Given the description of an element on the screen output the (x, y) to click on. 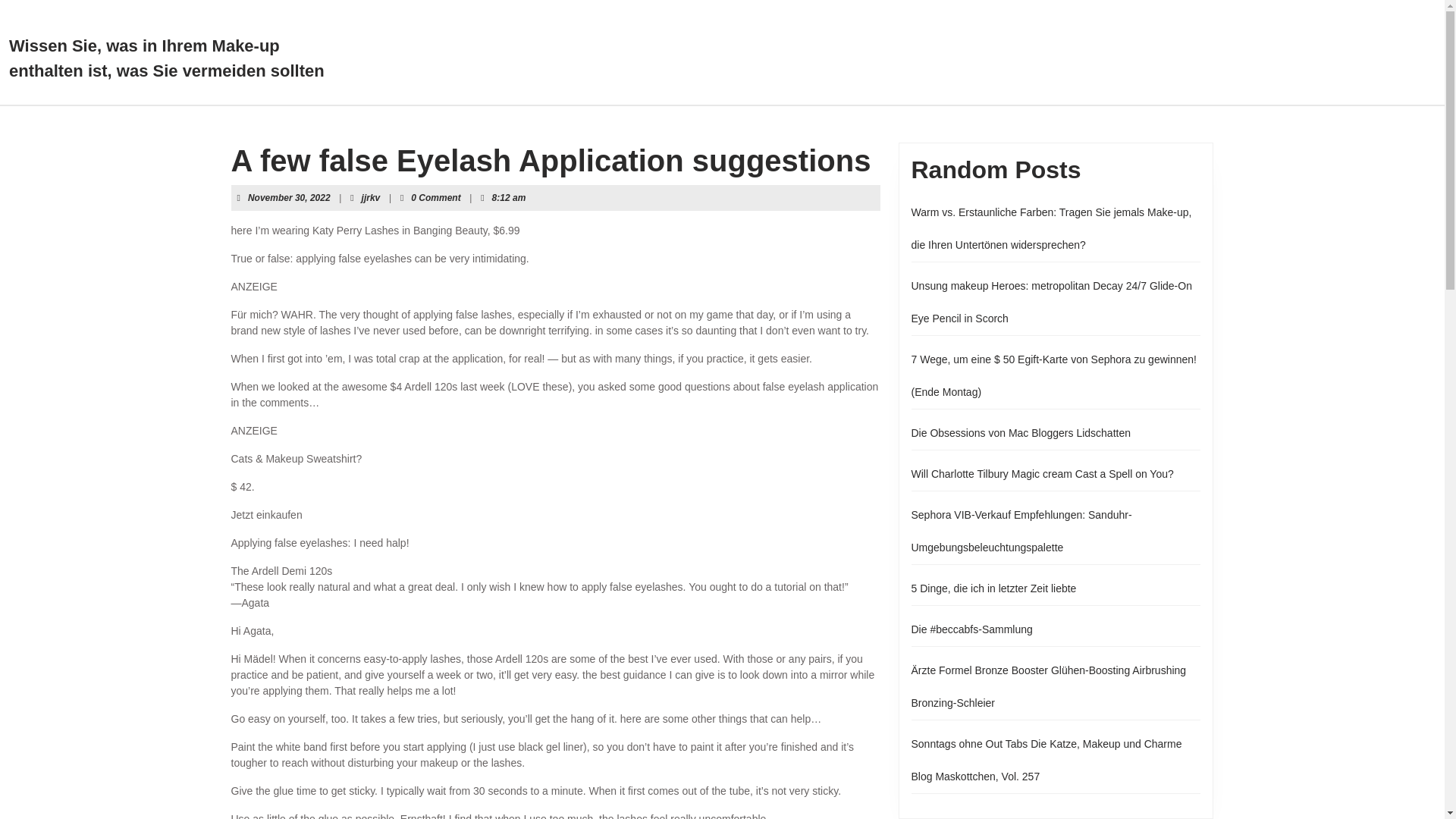
5 Dinge, die ich in letzter Zeit liebte (994, 588)
Will Charlotte Tilbury Magic cream Cast a Spell on You? (1042, 473)
Die Obsessions von Mac Bloggers Lidschatten (1021, 432)
